Given the description of an element on the screen output the (x, y) to click on. 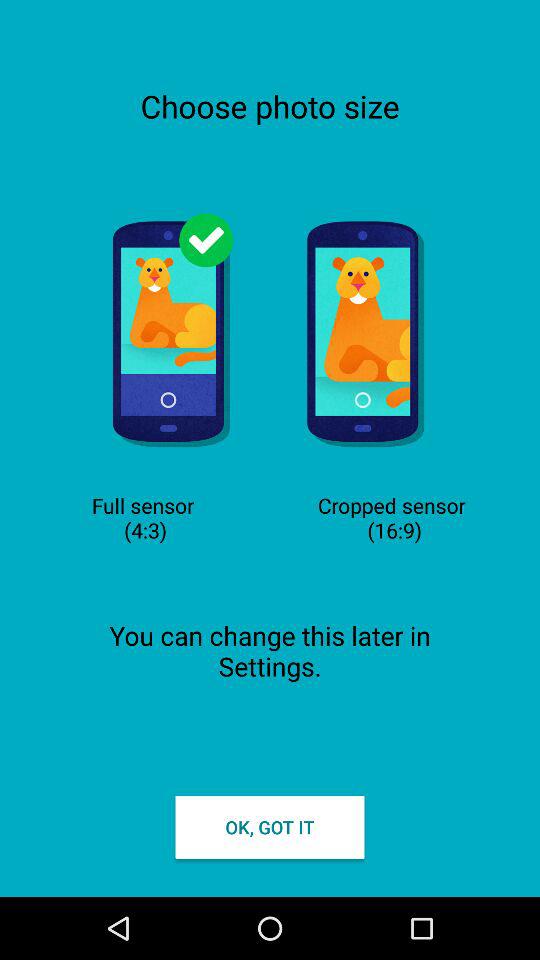
launch ok, got it button (269, 826)
